Given the description of an element on the screen output the (x, y) to click on. 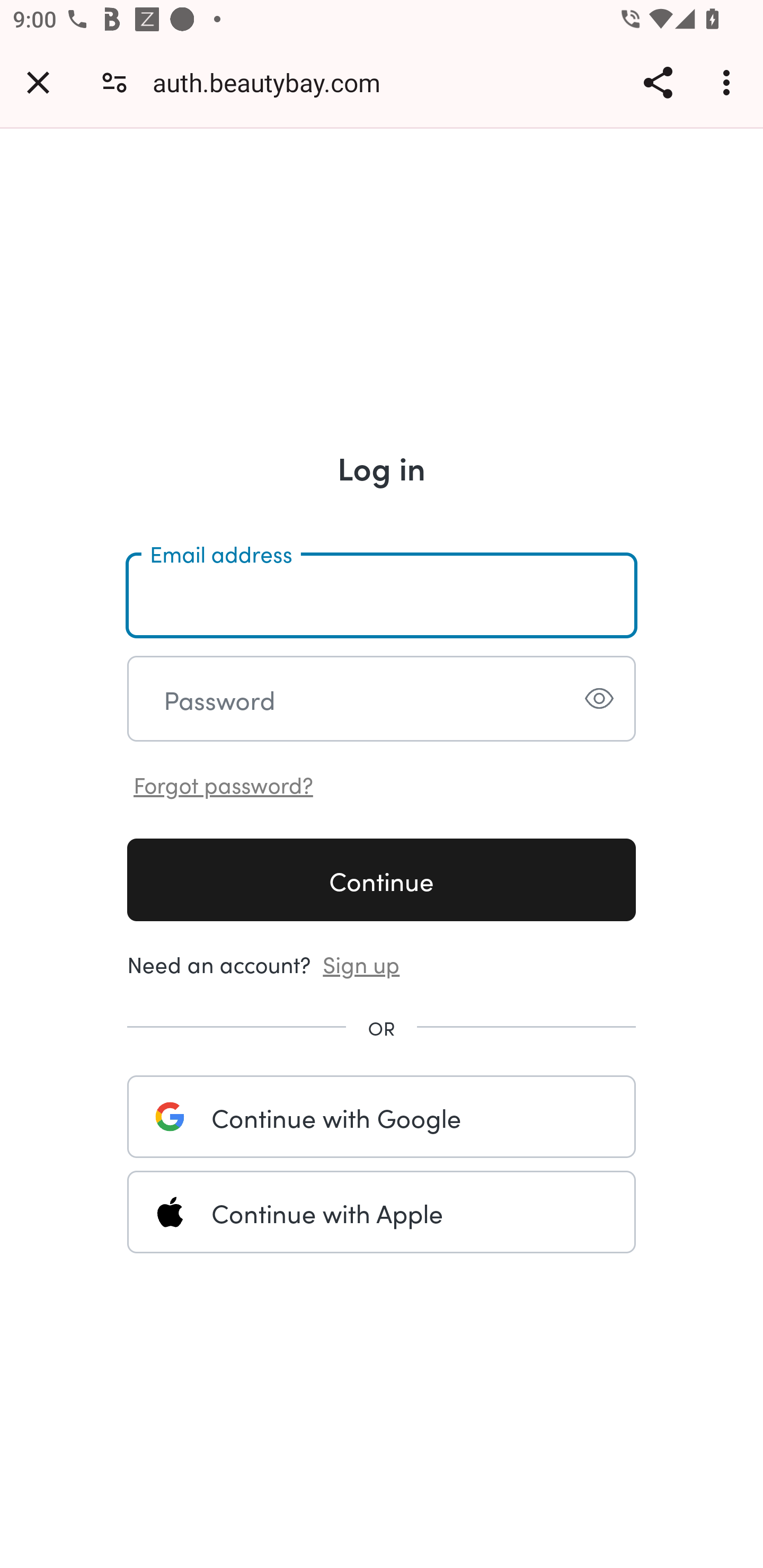
Close tab (38, 82)
Share (657, 82)
Customize and control Google Chrome (729, 82)
Connection is secure (114, 81)
auth.beautybay.com (272, 81)
Show password (599, 698)
Forgot password? (223, 782)
Continue (381, 879)
Sign up (361, 962)
Continue with Google (381, 1116)
Continue with Apple (381, 1211)
